Given the description of an element on the screen output the (x, y) to click on. 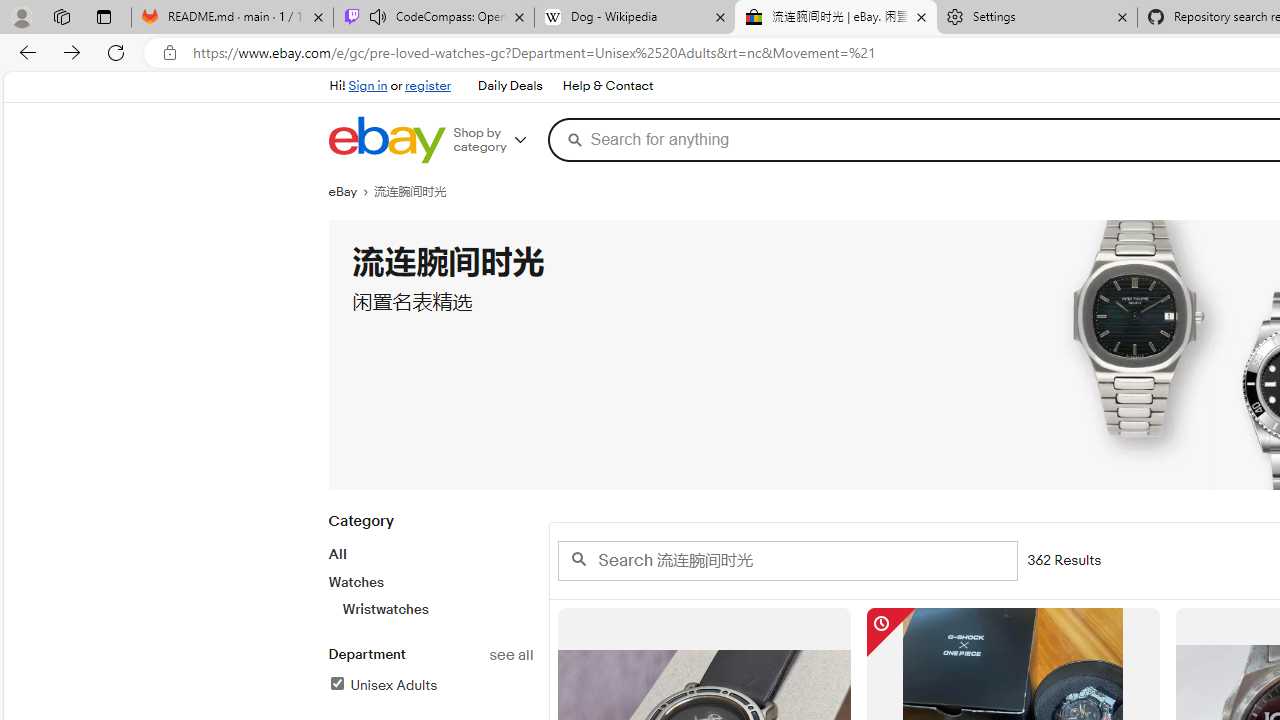
eBay (351, 192)
Daily Deals (509, 86)
WatchesWristwatches (430, 595)
Help & Contact (607, 86)
Shop by category (496, 140)
AllWatchesWristwatches (430, 581)
eBay (351, 191)
Unisex AdultsFilter Applied (430, 686)
Mute tab (377, 16)
Dog - Wikipedia (634, 17)
Help & Contact (606, 85)
register (427, 85)
